Given the description of an element on the screen output the (x, y) to click on. 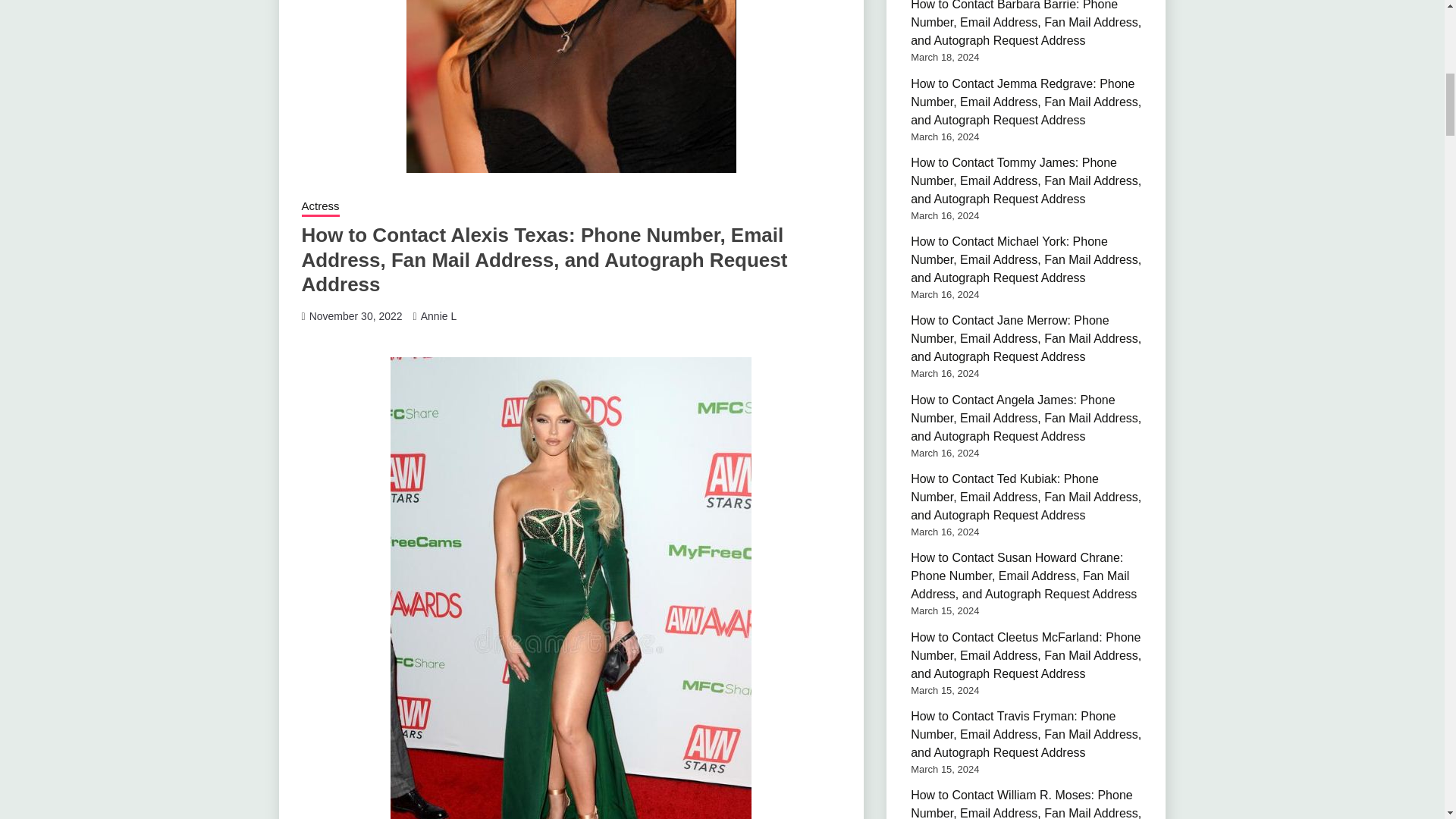
Annie L (438, 316)
November 30, 2022 (355, 316)
Actress (320, 207)
